Given the description of an element on the screen output the (x, y) to click on. 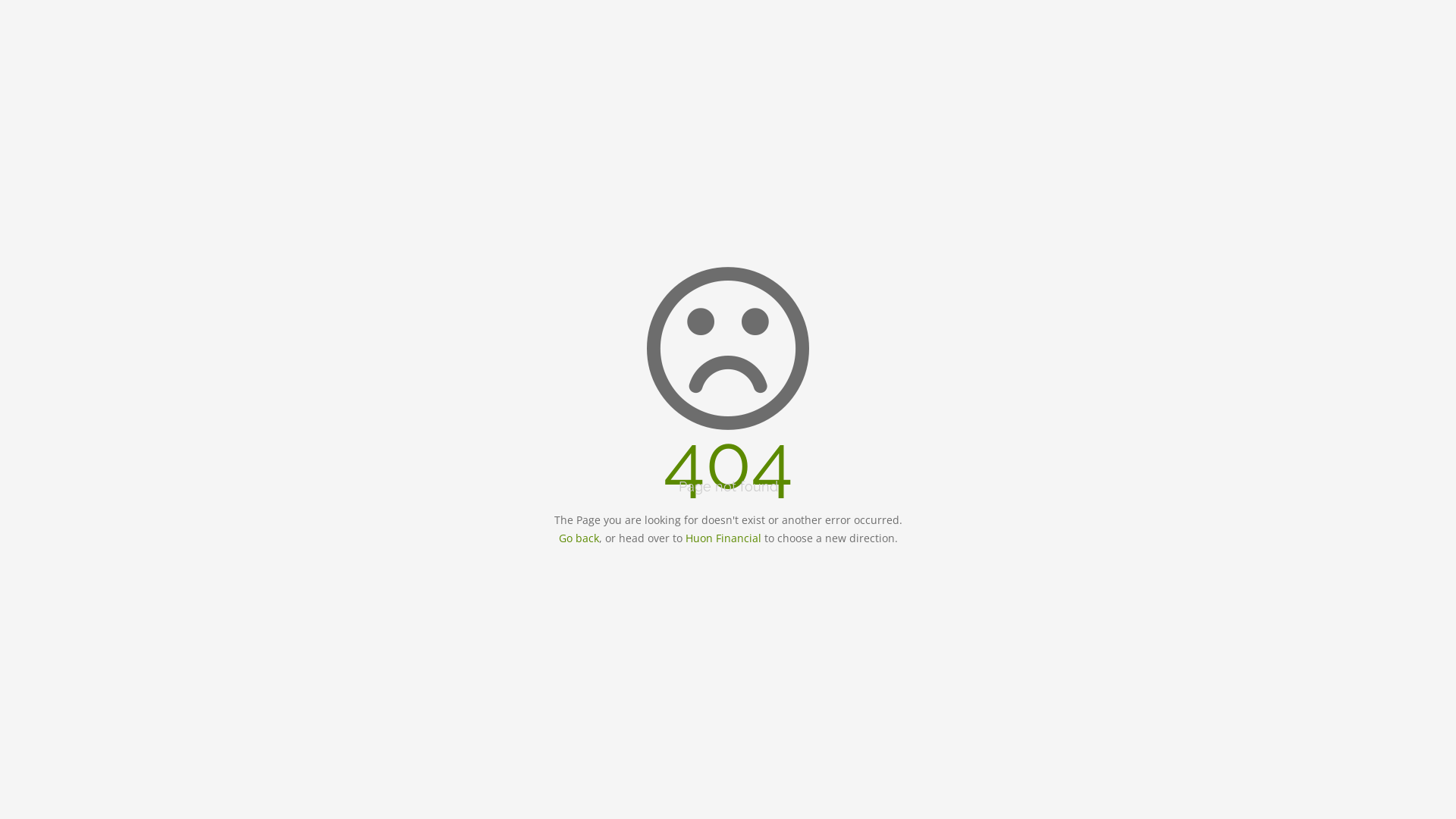
Huon Financial Element type: text (723, 537)
Go back Element type: text (578, 537)
